Given the description of an element on the screen output the (x, y) to click on. 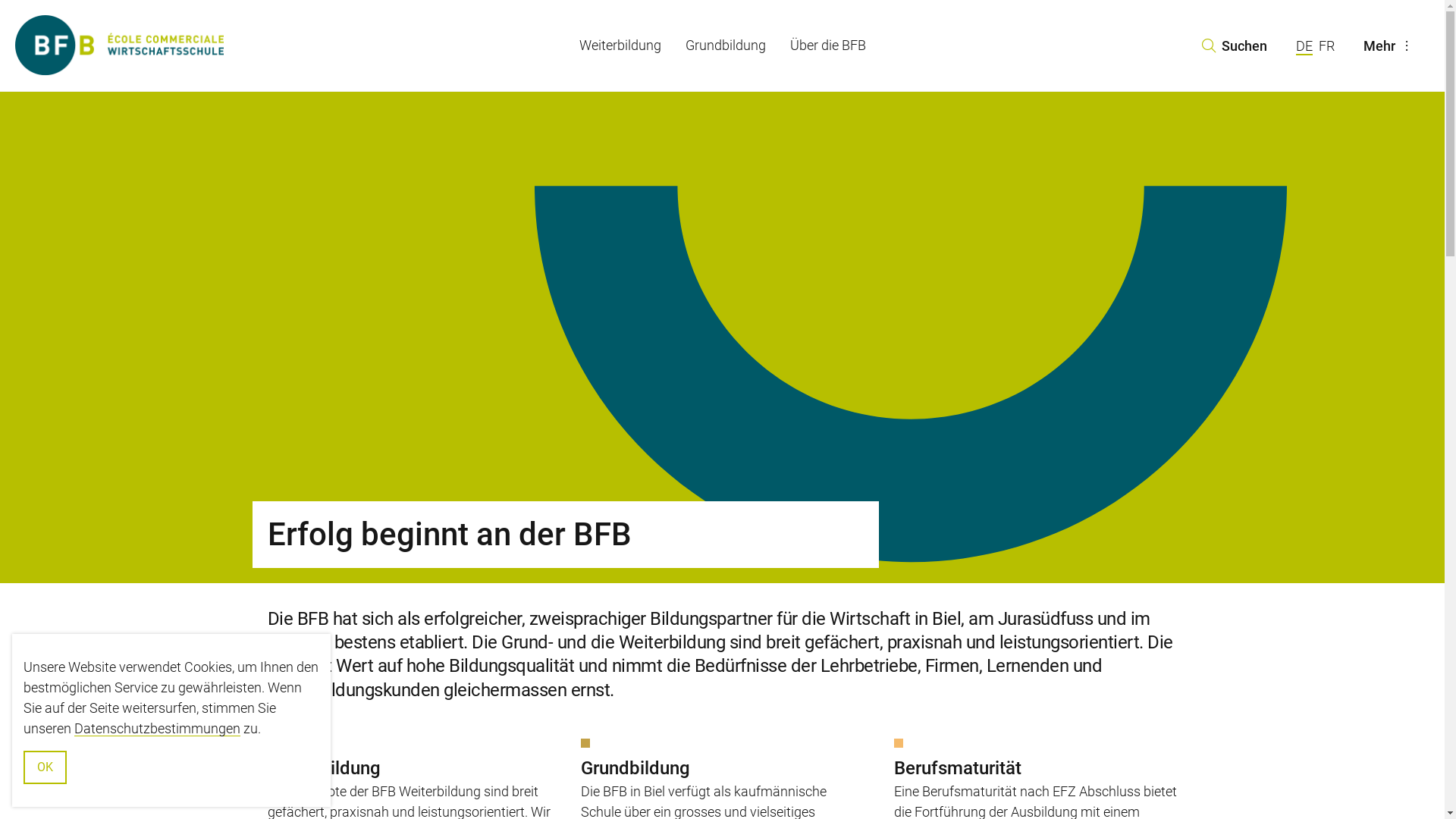
Weiterbildung Element type: text (620, 45)
DE Element type: text (1303, 46)
Suchen Element type: text (1233, 44)
FR Element type: text (1325, 45)
Grundbildung Element type: text (725, 45)
OK Element type: text (44, 767)
Datenschutzbestimmungen Element type: text (157, 728)
Mehr Element type: text (1389, 44)
